Given the description of an element on the screen output the (x, y) to click on. 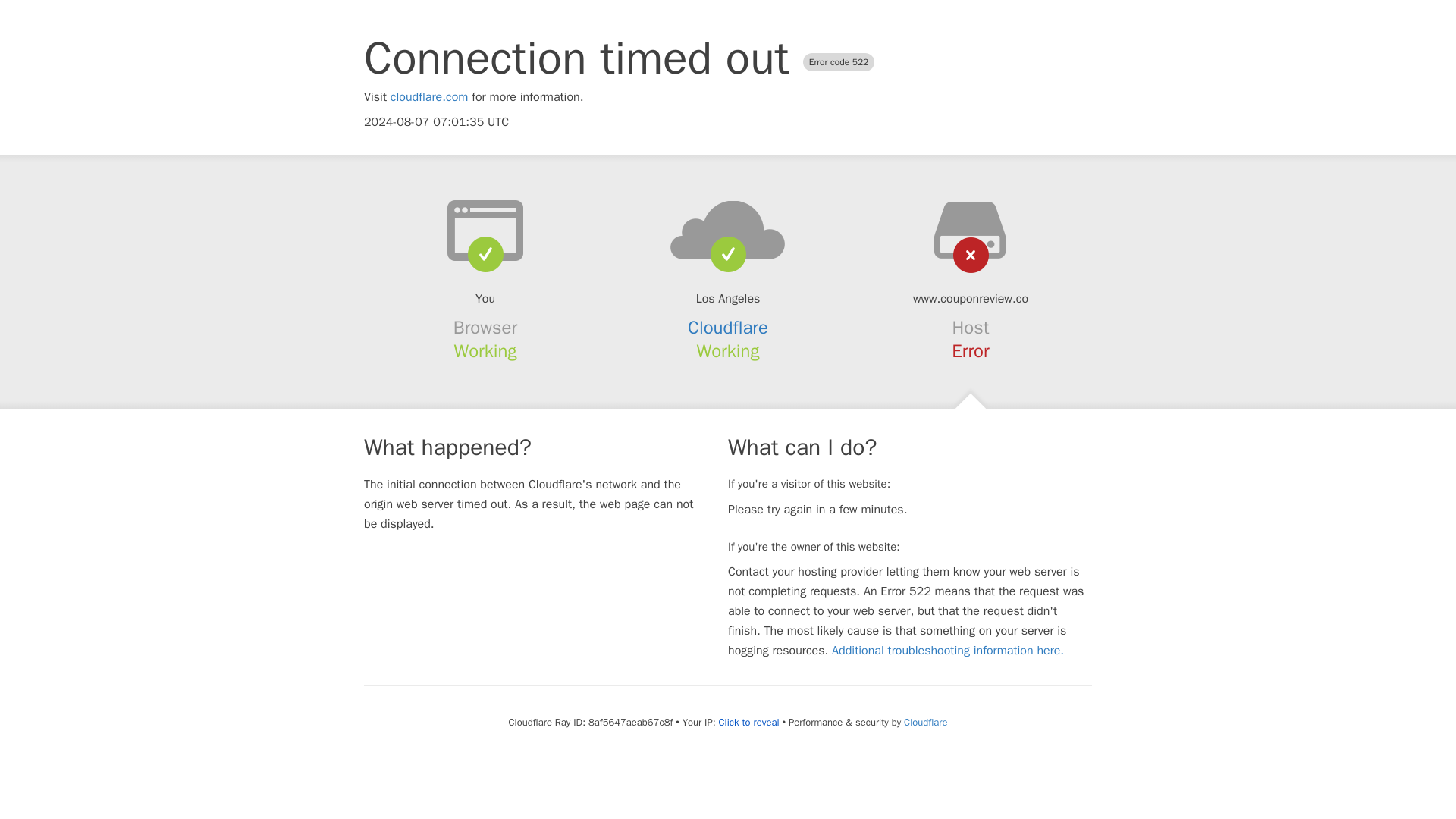
Click to reveal (748, 722)
Additional troubleshooting information here. (947, 650)
Cloudflare (925, 721)
Cloudflare (727, 327)
cloudflare.com (429, 96)
